Given the description of an element on the screen output the (x, y) to click on. 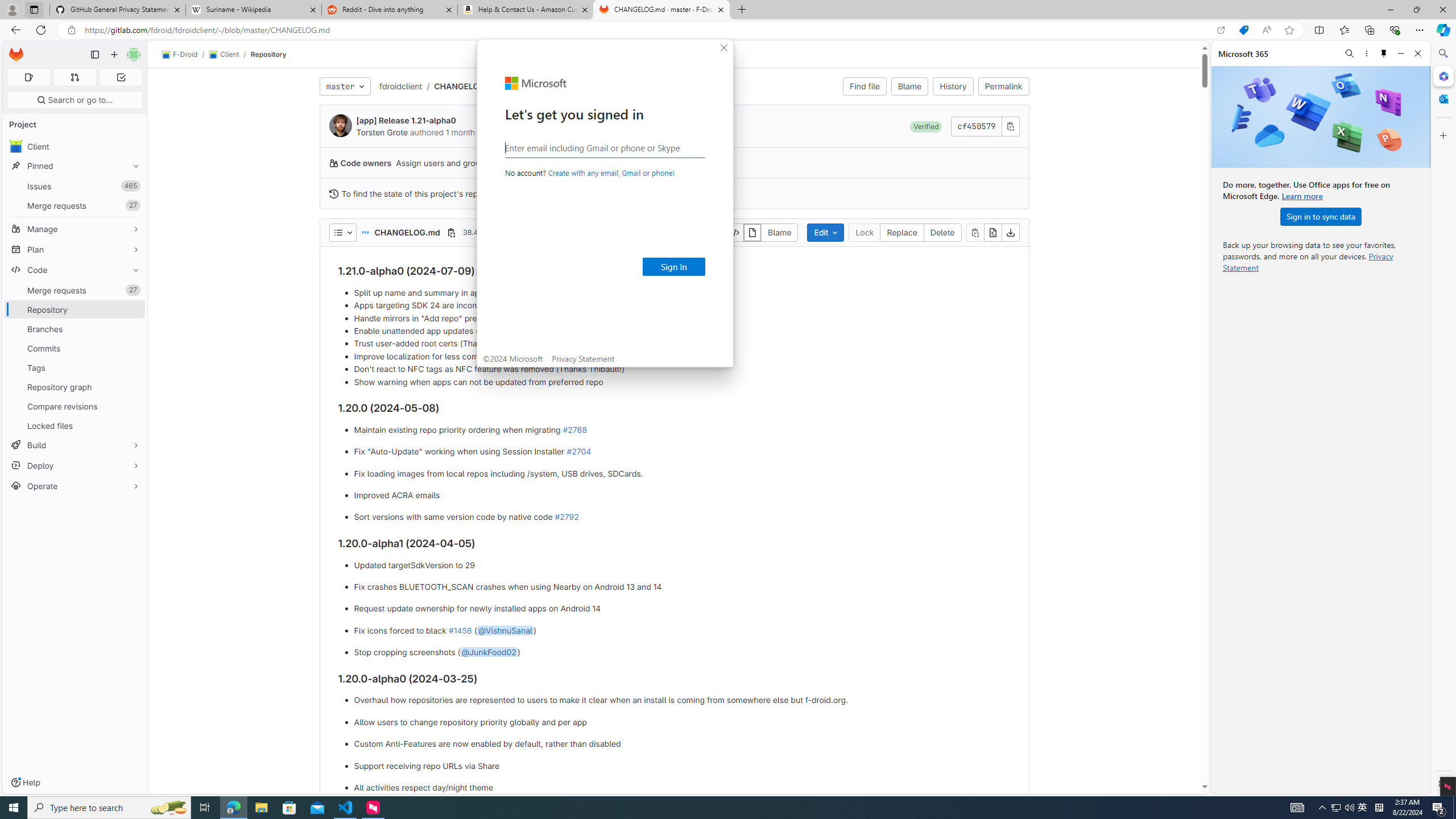
Stop cropping screenshots (@JunkFood02) (681, 652)
Tray Input Indicator - Chinese (Simplified, China) (1378, 807)
Operate (74, 485)
Unpin Issues (132, 186)
Deploy (74, 465)
Show desktop (1454, 807)
Enter email including Gmail or phone or Skype (604, 147)
Suriname - Wikipedia (253, 9)
File Explorer (261, 807)
To-Do list 0 (120, 76)
Plan (74, 248)
Unpin Merge requests (132, 290)
